Given the description of an element on the screen output the (x, y) to click on. 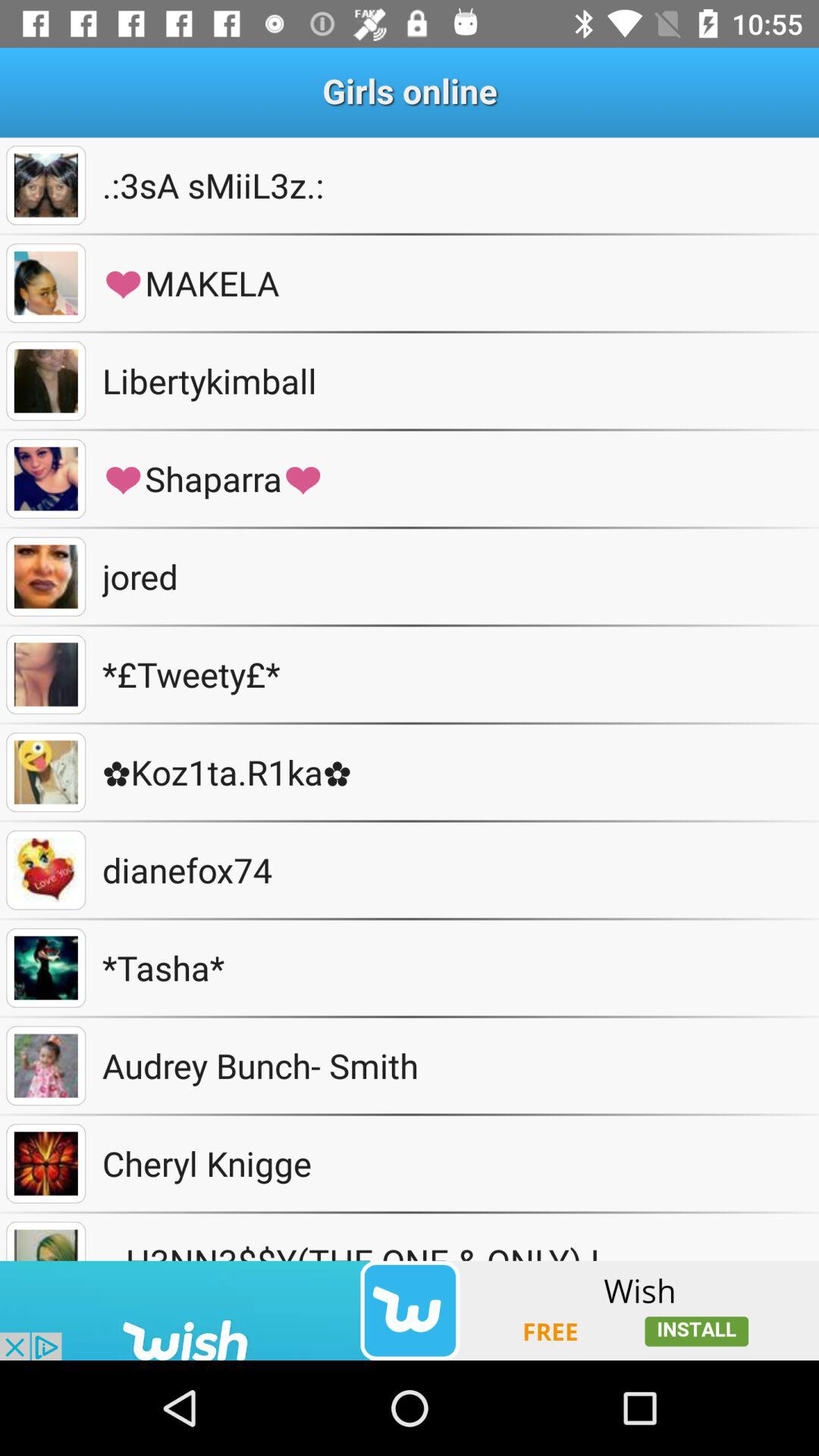
another app install to been see (409, 1310)
